Given the description of an element on the screen output the (x, y) to click on. 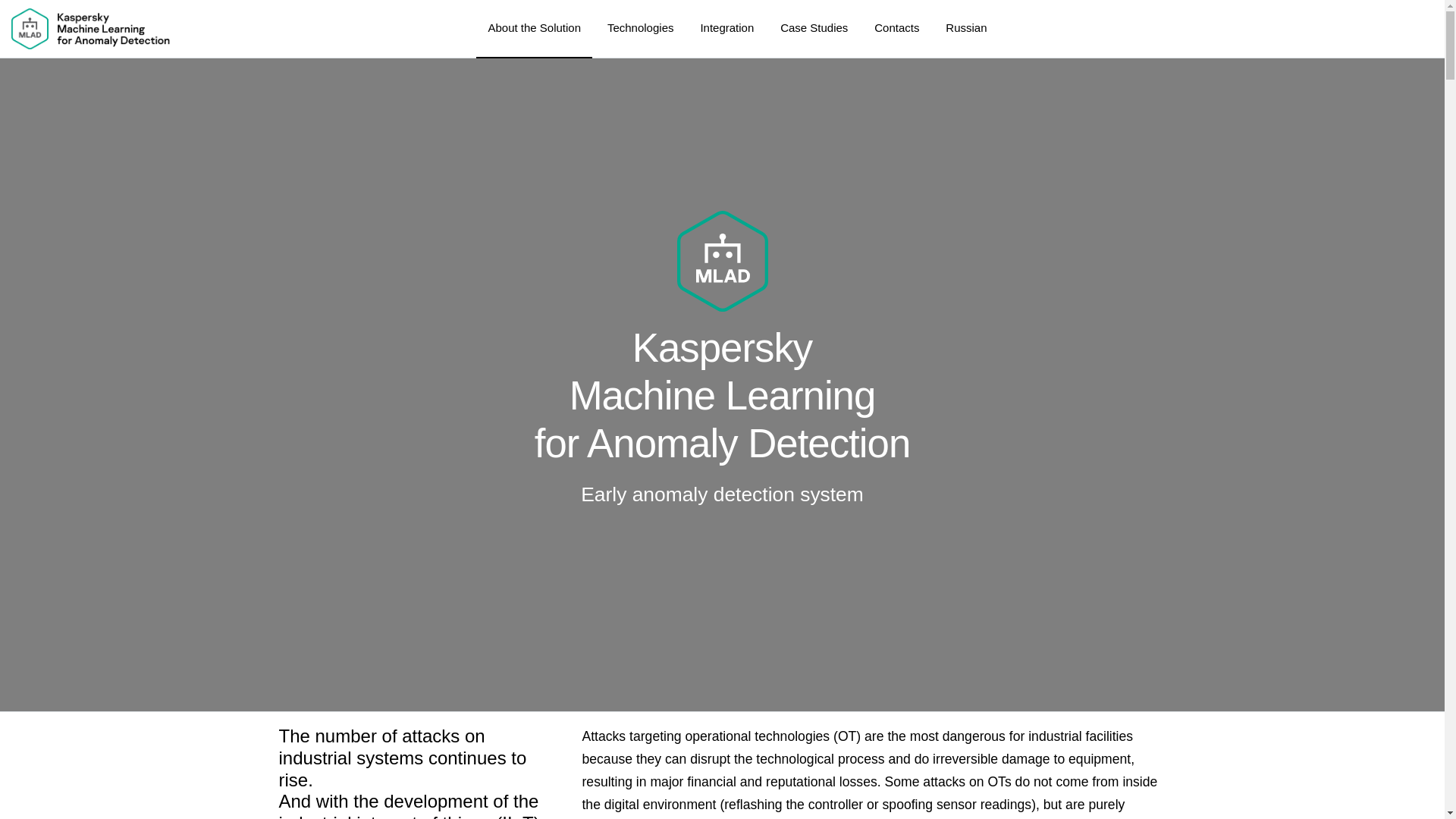
Russian (965, 28)
Integration (727, 28)
Technologies (640, 28)
About the Solution (533, 28)
Case Studies (813, 28)
Contacts (896, 28)
